Given the description of an element on the screen output the (x, y) to click on. 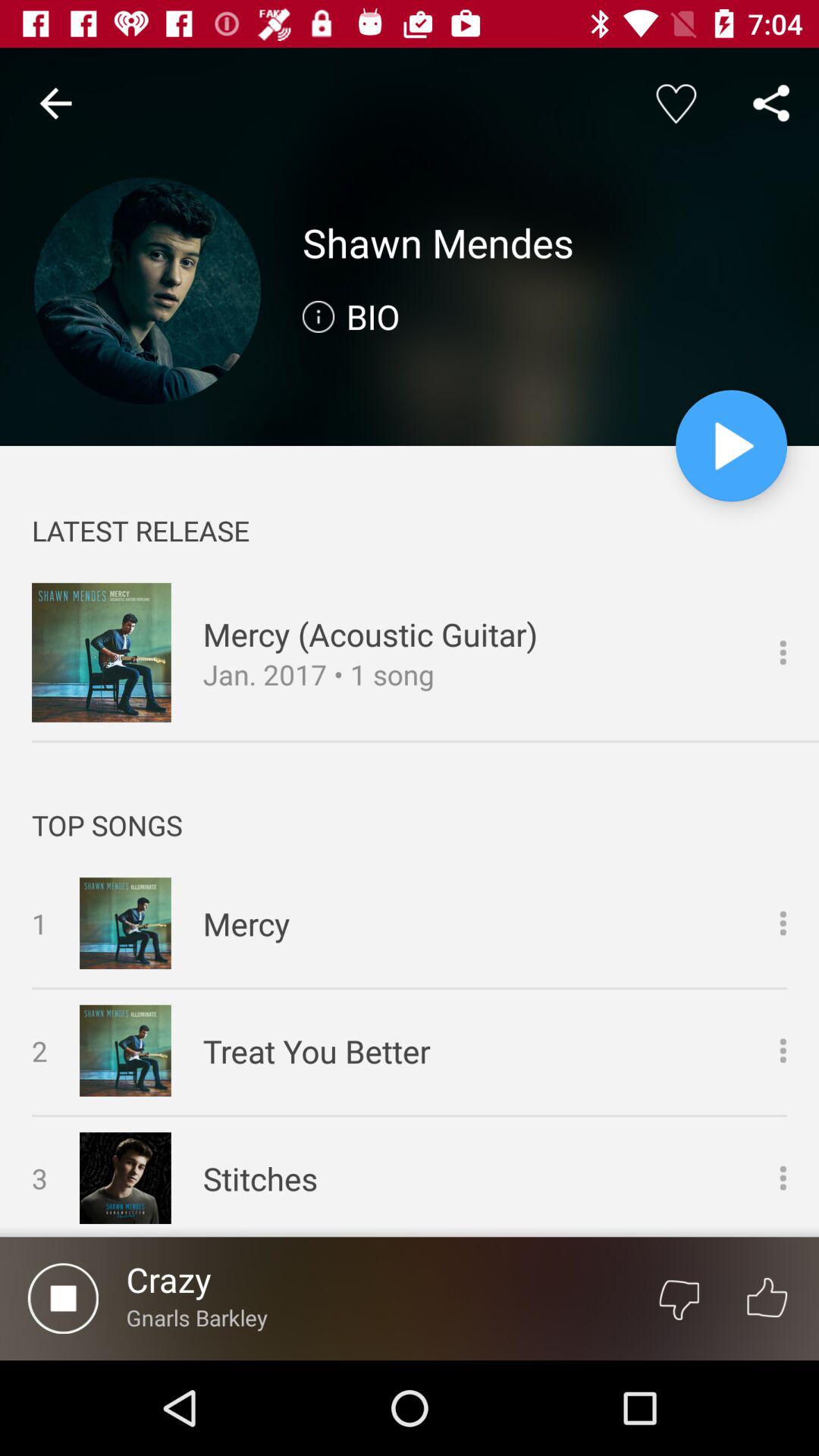
select the image which is left to mercy (125, 923)
select the image of song treat you better (125, 1050)
select the dislike button (679, 1297)
